Given the description of an element on the screen output the (x, y) to click on. 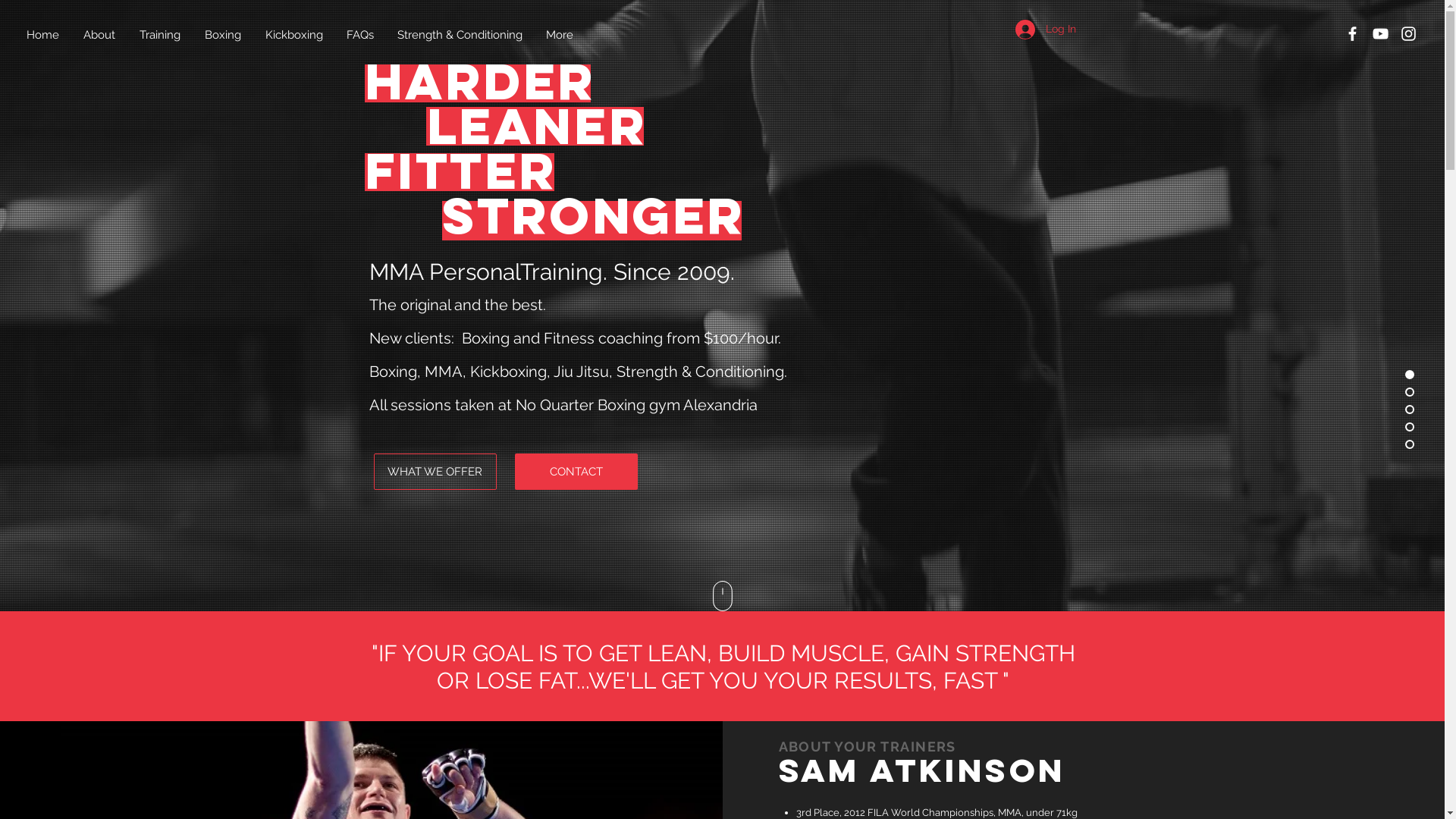
FAQs Element type: text (360, 34)
WHAT WE OFFER Element type: text (434, 471)
Training Element type: text (160, 34)
About Element type: text (100, 34)
Log In Element type: text (1044, 29)
Strength & Conditioning Element type: text (459, 34)
Boxing Element type: text (223, 34)
Kickboxing Element type: text (294, 34)
Home Element type: text (43, 34)
CONTACT Element type: text (575, 471)
